Given the description of an element on the screen output the (x, y) to click on. 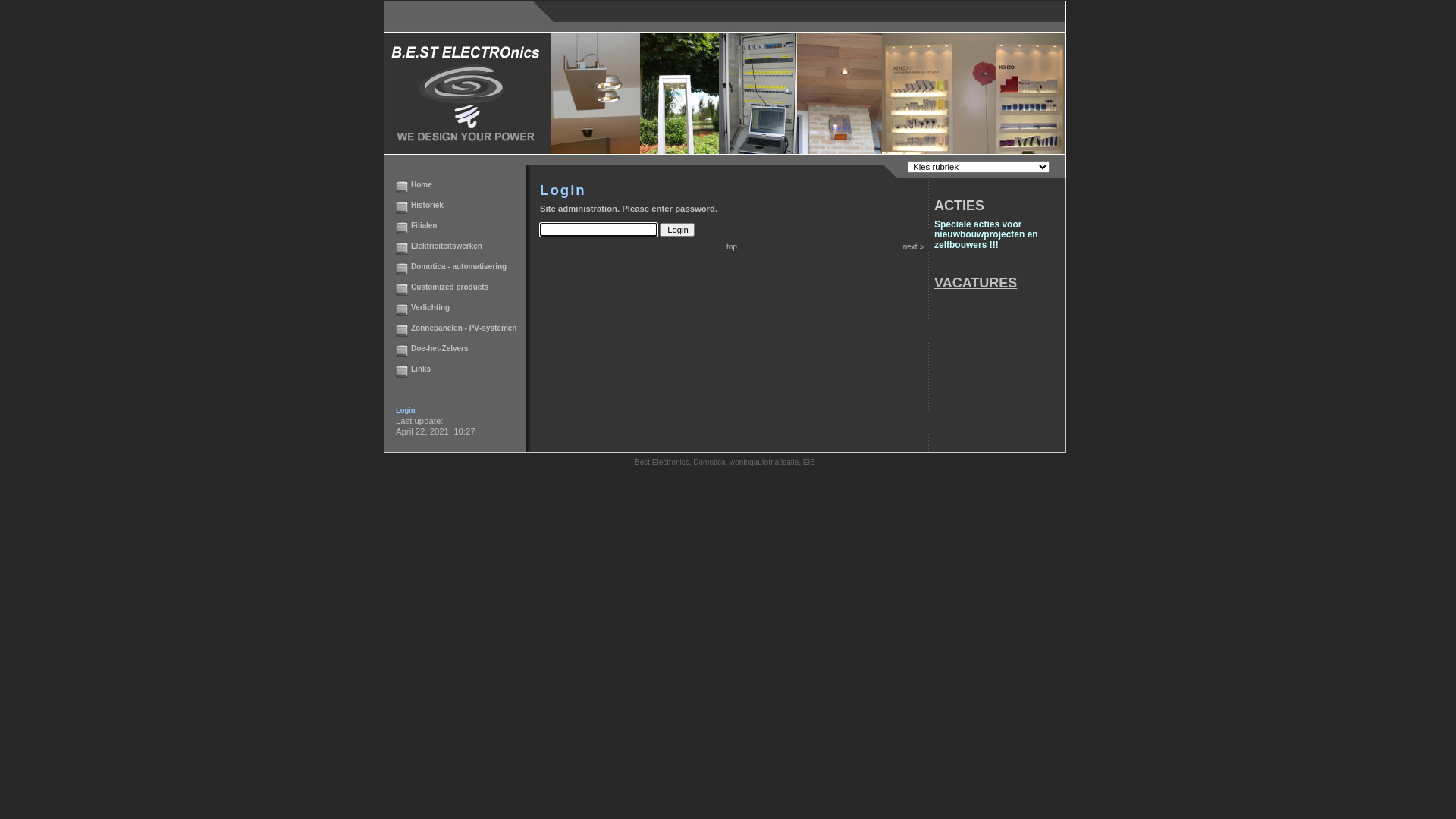
Login Element type: text (676, 229)
Elektriciteitswerken Element type: text (446, 245)
Links Element type: text (420, 368)
Login Element type: text (404, 410)
Verlichting Element type: text (430, 307)
Home Element type: text (421, 184)
Domotica - automatisering Element type: text (458, 266)
Doe-het-Zelvers Element type: text (439, 348)
Filialen Element type: text (423, 225)
VACATURES Element type: text (975, 282)
top Element type: text (731, 246)
Historiek Element type: text (427, 204)
Customized products Element type: text (449, 286)
